Given the description of an element on the screen output the (x, y) to click on. 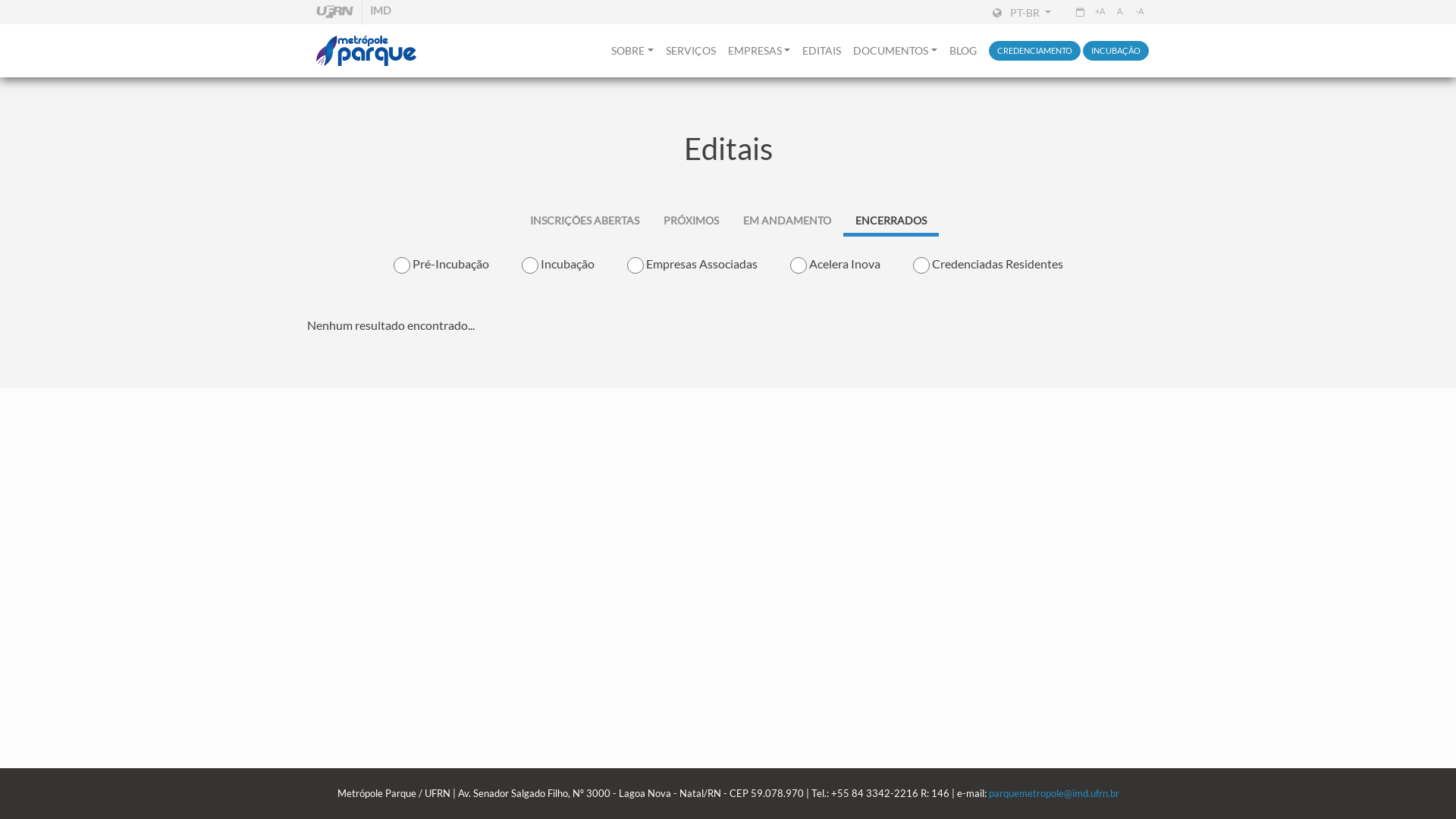
PT-BR Element type: text (1021, 12)
+A
AUMENTAR TAMANHO DA LETRA [ALT + 3] Element type: text (1099, 11)
SOBRE Element type: text (632, 50)
EDITAIS Element type: text (821, 50)
CREDENCIAMENTO Element type: text (1034, 50)
EMPRESAS Element type: text (759, 50)
-A
REDUZIR TAMANHO DA LETRA [ALT + 5] Element type: text (1138, 11)
UFRN Element type: hover (334, 12)
EM ANDAMENTO Element type: text (787, 219)
A
TAMANHO DA LETRA NORMAL [ALT + 4] Element type: text (1119, 11)
IMD Element type: text (379, 12)
DOCUMENTOS Element type: text (895, 50)
Agenda Element type: hover (1079, 11)
ENCERRADOS Element type: text (890, 219)
parquemetropole@imd.ufrn.br Element type: text (1053, 793)
BLOG Element type: text (962, 50)
